Given the description of an element on the screen output the (x, y) to click on. 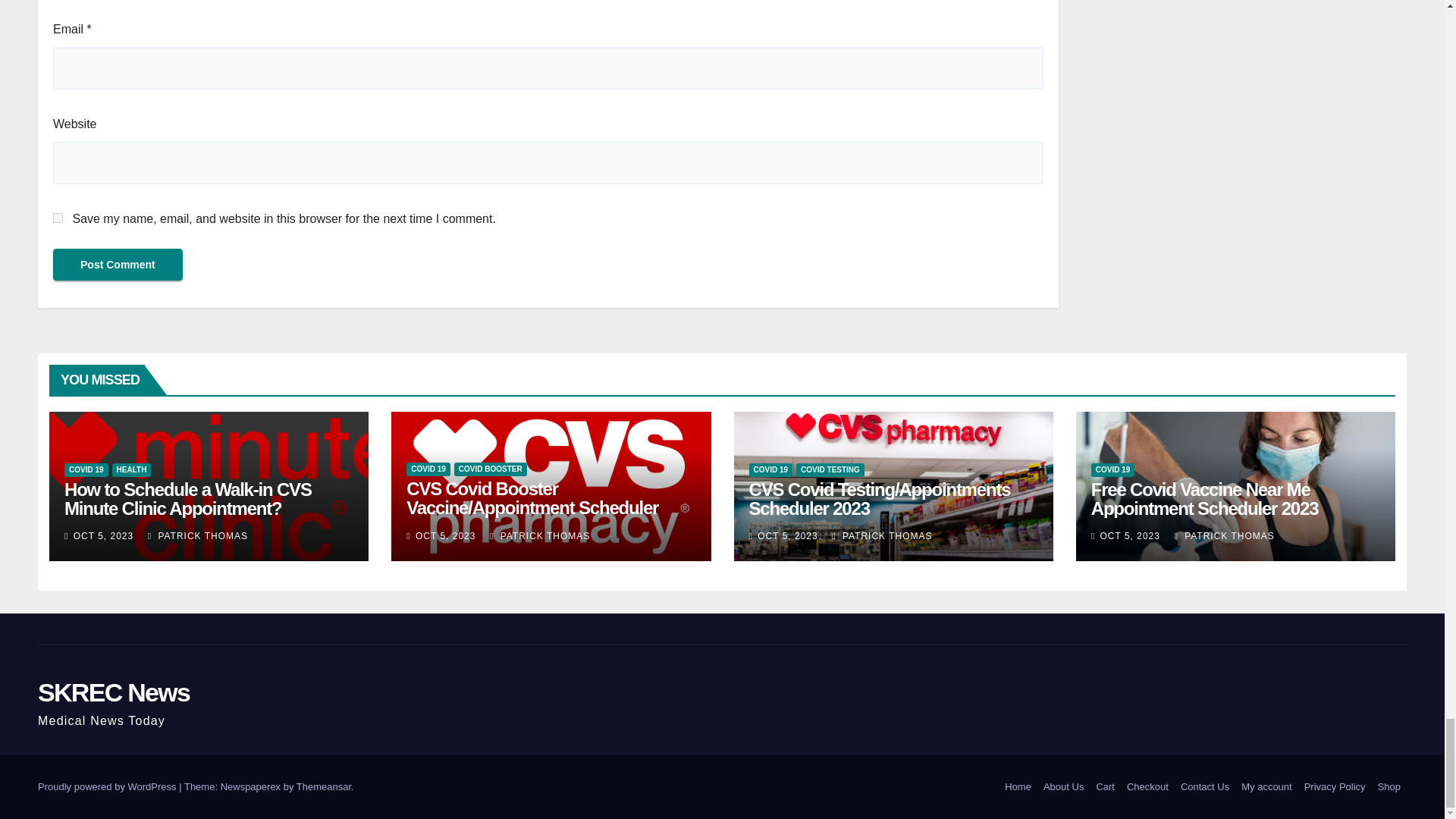
yes (57, 217)
Post Comment (117, 264)
